Given the description of an element on the screen output the (x, y) to click on. 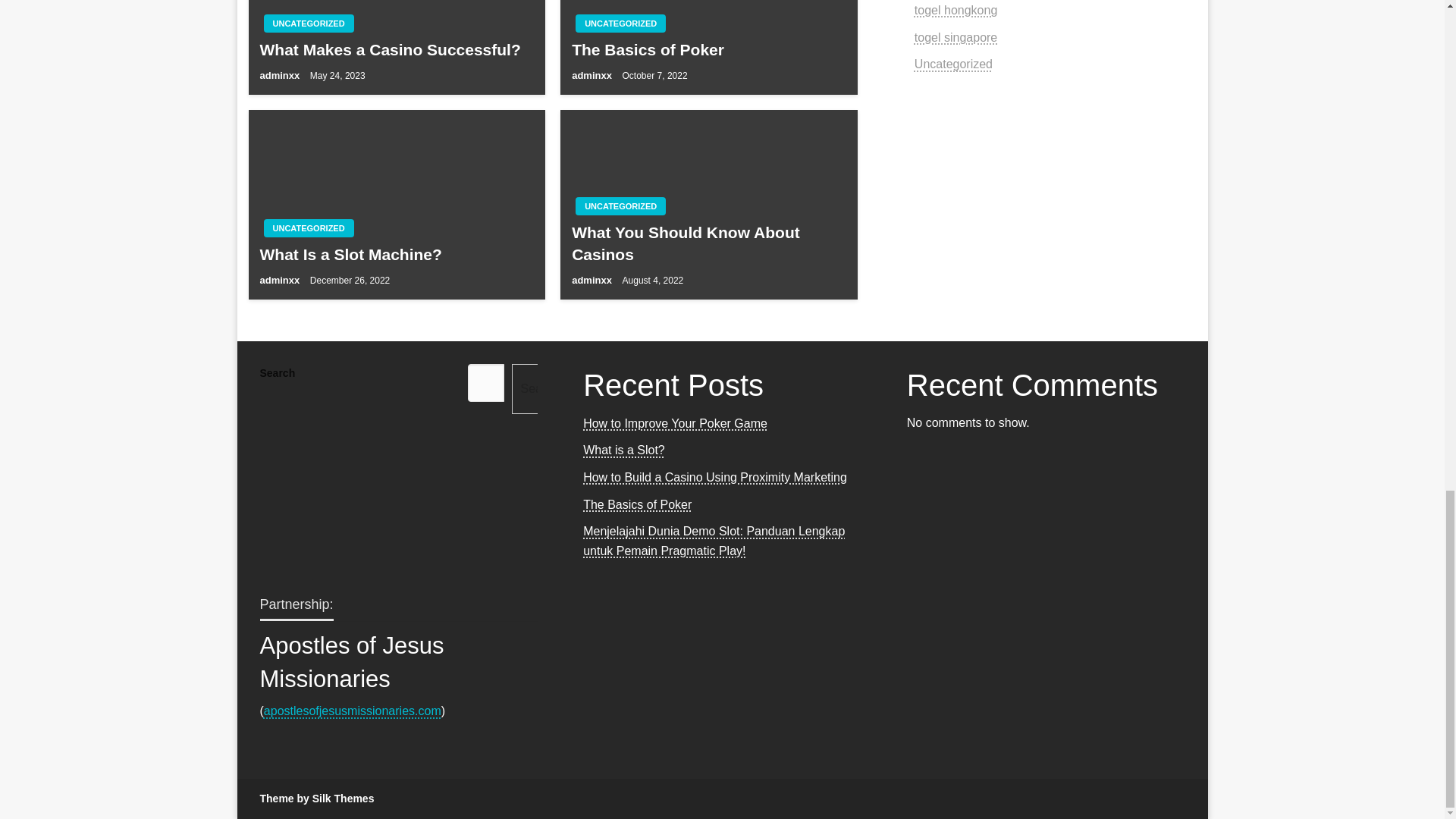
UNCATEGORIZED (620, 23)
UNCATEGORIZED (308, 23)
What You Should Know About Casinos (708, 243)
What Is a Slot Machine? (396, 254)
What Makes a Casino Successful? (396, 49)
adminxx (593, 279)
UNCATEGORIZED (308, 228)
adminxx (280, 279)
adminxx (280, 75)
adminxx (593, 75)
